Given the description of an element on the screen output the (x, y) to click on. 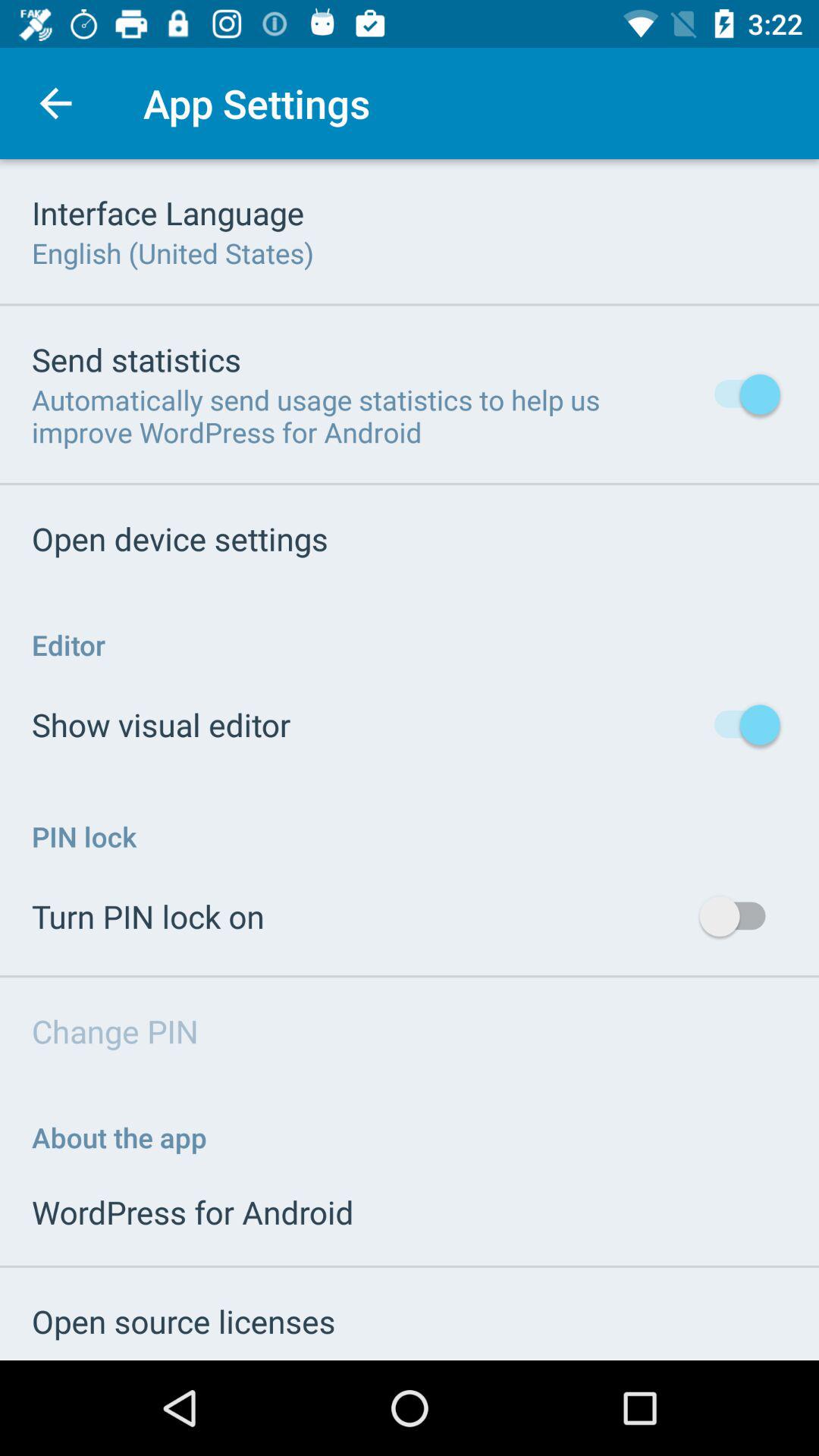
turn off change pin icon (114, 1030)
